Given the description of an element on the screen output the (x, y) to click on. 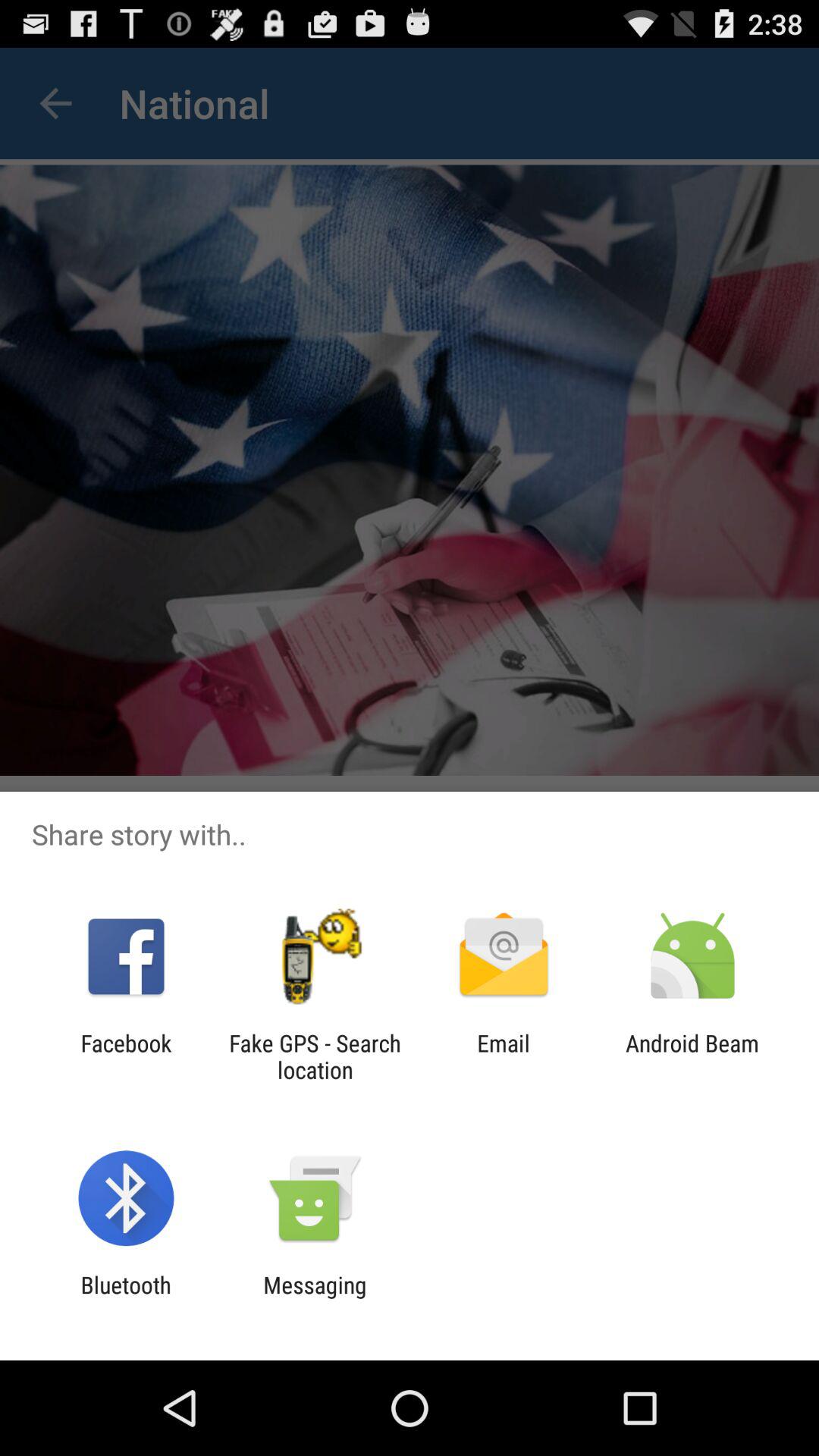
jump until bluetooth icon (125, 1298)
